Given the description of an element on the screen output the (x, y) to click on. 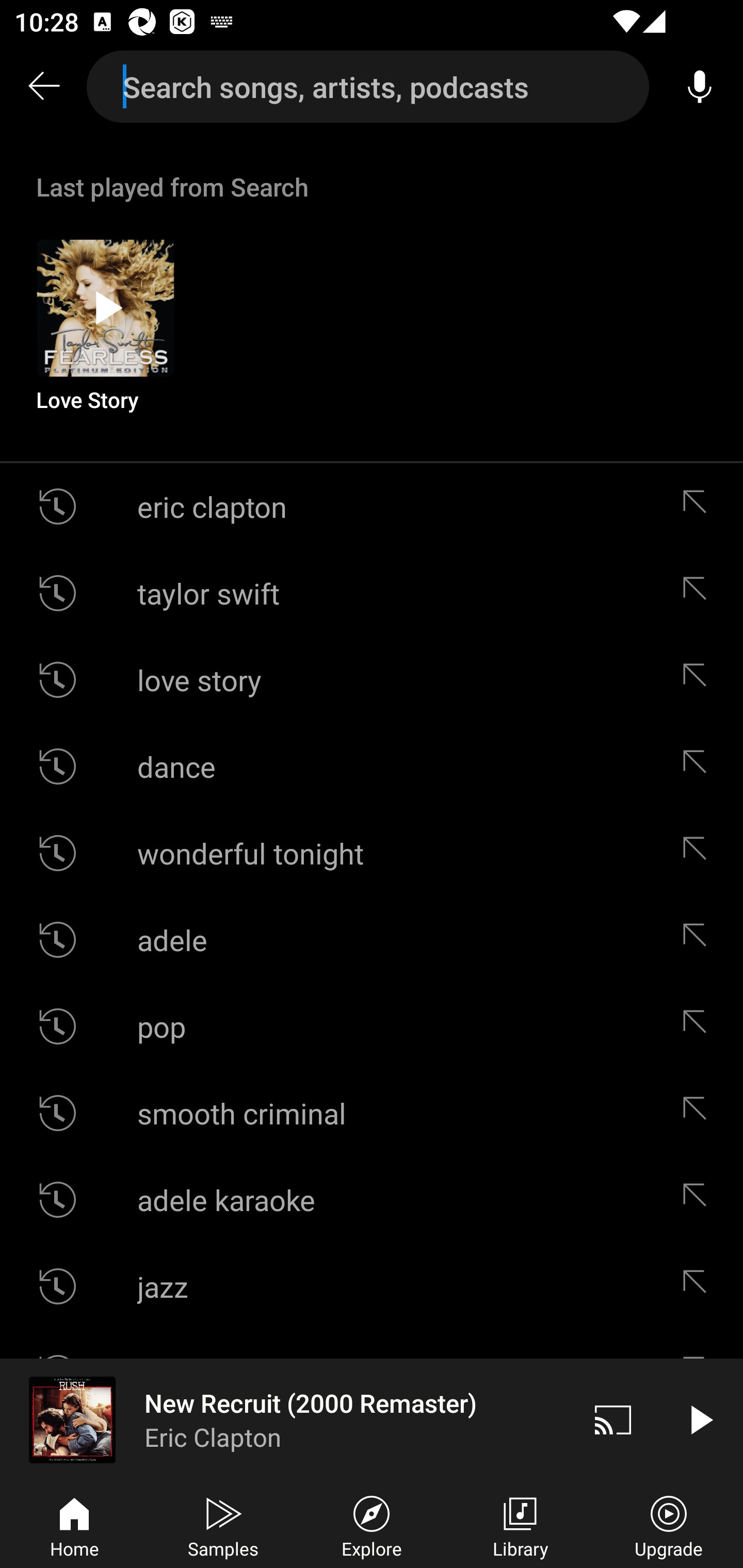
Search back (43, 86)
Search songs, artists, podcasts (367, 86)
Voice search (699, 86)
eric clapton Edit suggestion eric clapton (371, 506)
Edit suggestion eric clapton (699, 506)
taylor swift Edit suggestion taylor swift (371, 593)
Edit suggestion taylor swift (699, 593)
love story Edit suggestion love story (371, 679)
Edit suggestion love story (699, 679)
dance Edit suggestion dance (371, 765)
Edit suggestion dance (699, 765)
Edit suggestion wonderful tonight (699, 852)
adele Edit suggestion adele (371, 939)
Edit suggestion adele (699, 939)
pop Edit suggestion pop (371, 1026)
Edit suggestion pop (699, 1026)
smooth criminal Edit suggestion smooth criminal (371, 1113)
Edit suggestion smooth criminal (699, 1113)
adele karaoke Edit suggestion adele karaoke (371, 1200)
Edit suggestion adele karaoke (699, 1200)
jazz Edit suggestion jazz (371, 1286)
Edit suggestion jazz (699, 1286)
New Recruit (2000 Remaster) Eric Clapton (284, 1419)
Cast. Disconnected (612, 1419)
Play video (699, 1419)
Home (74, 1524)
Samples (222, 1524)
Explore (371, 1524)
Library (519, 1524)
Upgrade (668, 1524)
